Given the description of an element on the screen output the (x, y) to click on. 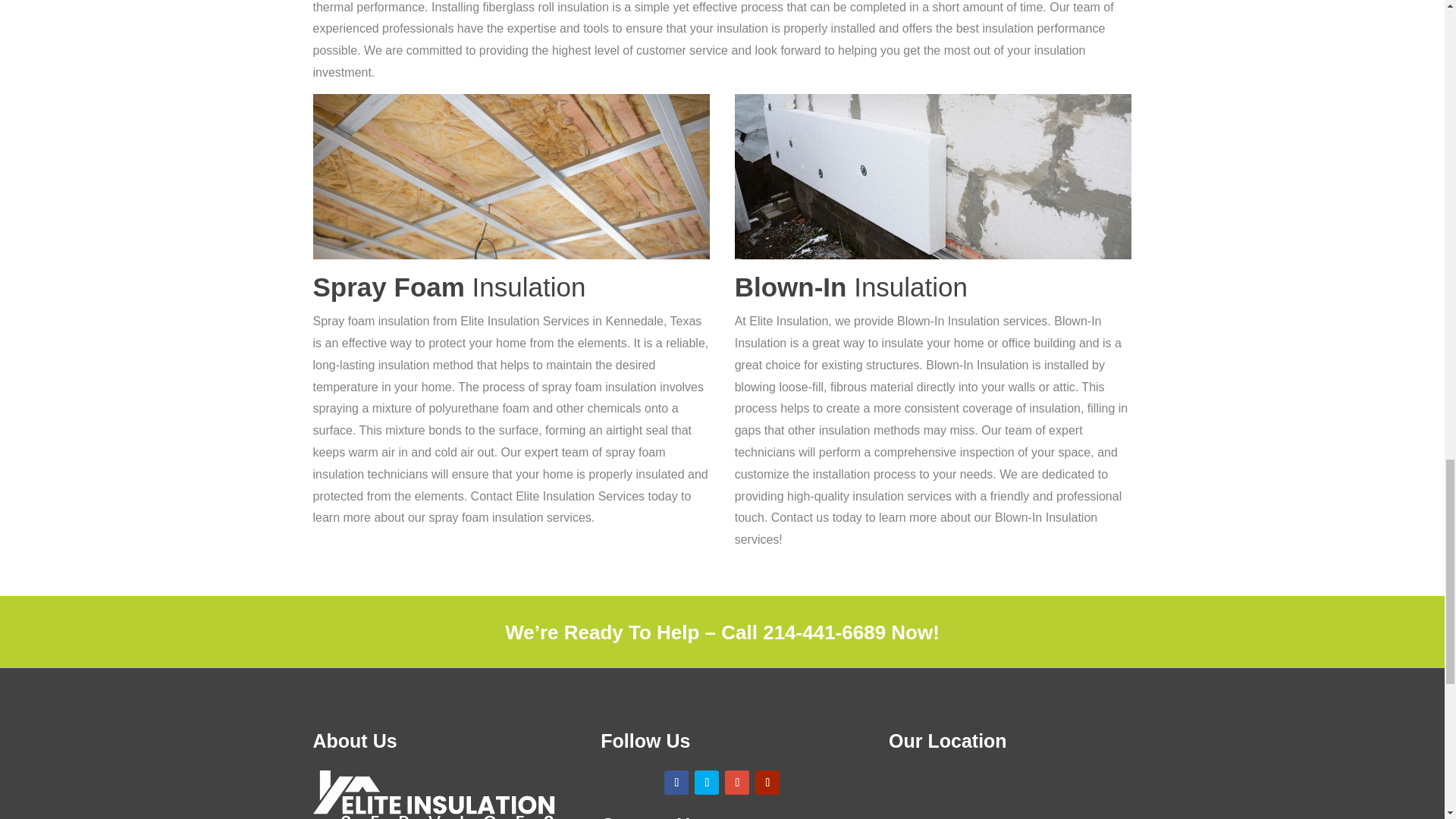
Follow on Youtube (766, 782)
img14 - Elite Insulation Services (511, 176)
SITELOGONEW-white (433, 794)
Follow on Twitter (706, 782)
img15 - Elite Insulation Services (933, 176)
Follow on Facebook (675, 782)
